Given the description of an element on the screen output the (x, y) to click on. 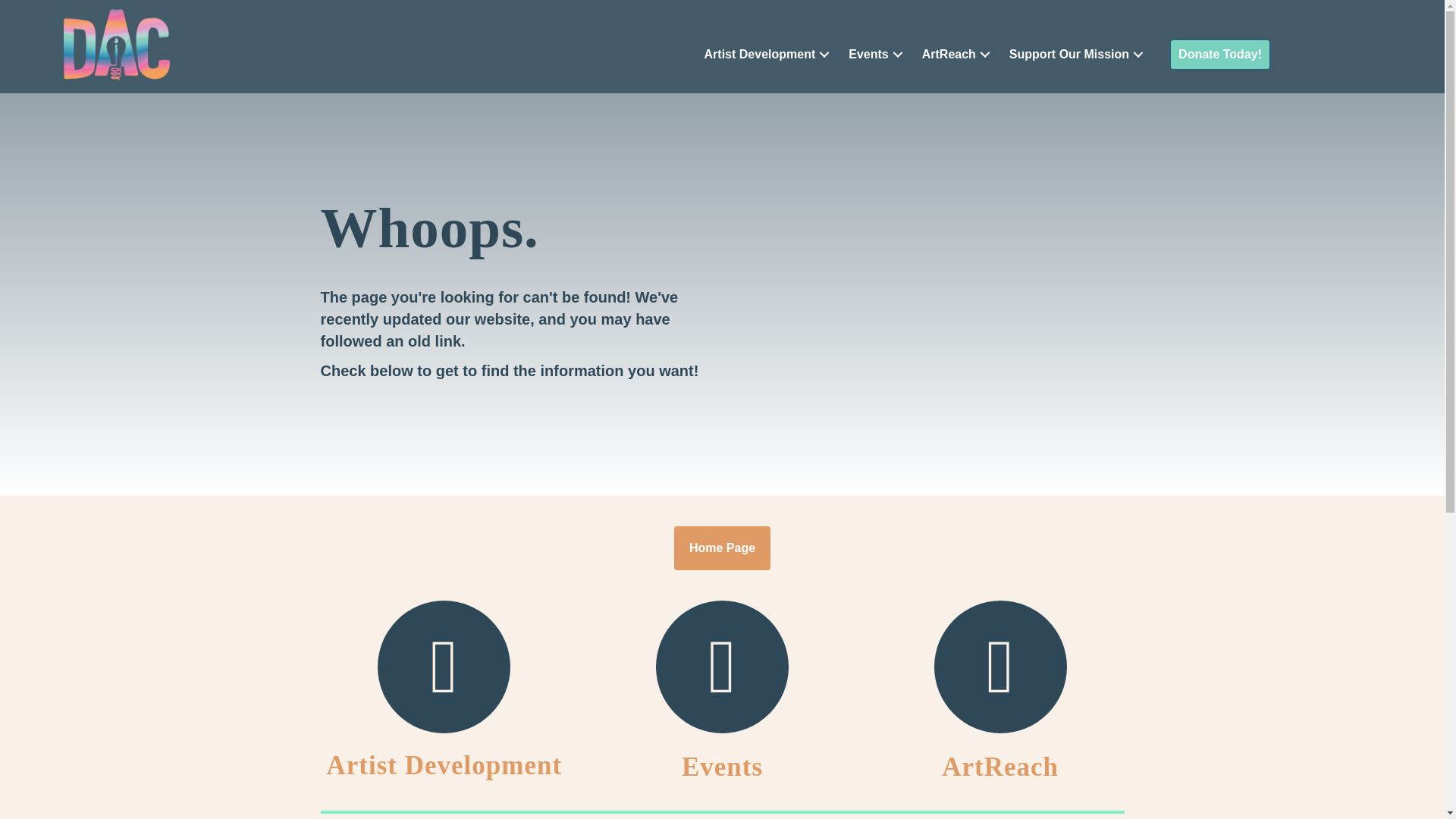
Events (877, 53)
ArtReach (1000, 767)
ArtReach (957, 53)
DAC Gradient Logo (117, 44)
Artist Development (769, 53)
Support Our Mission (1077, 53)
Events (721, 767)
Artist Development (444, 765)
